Given the description of an element on the screen output the (x, y) to click on. 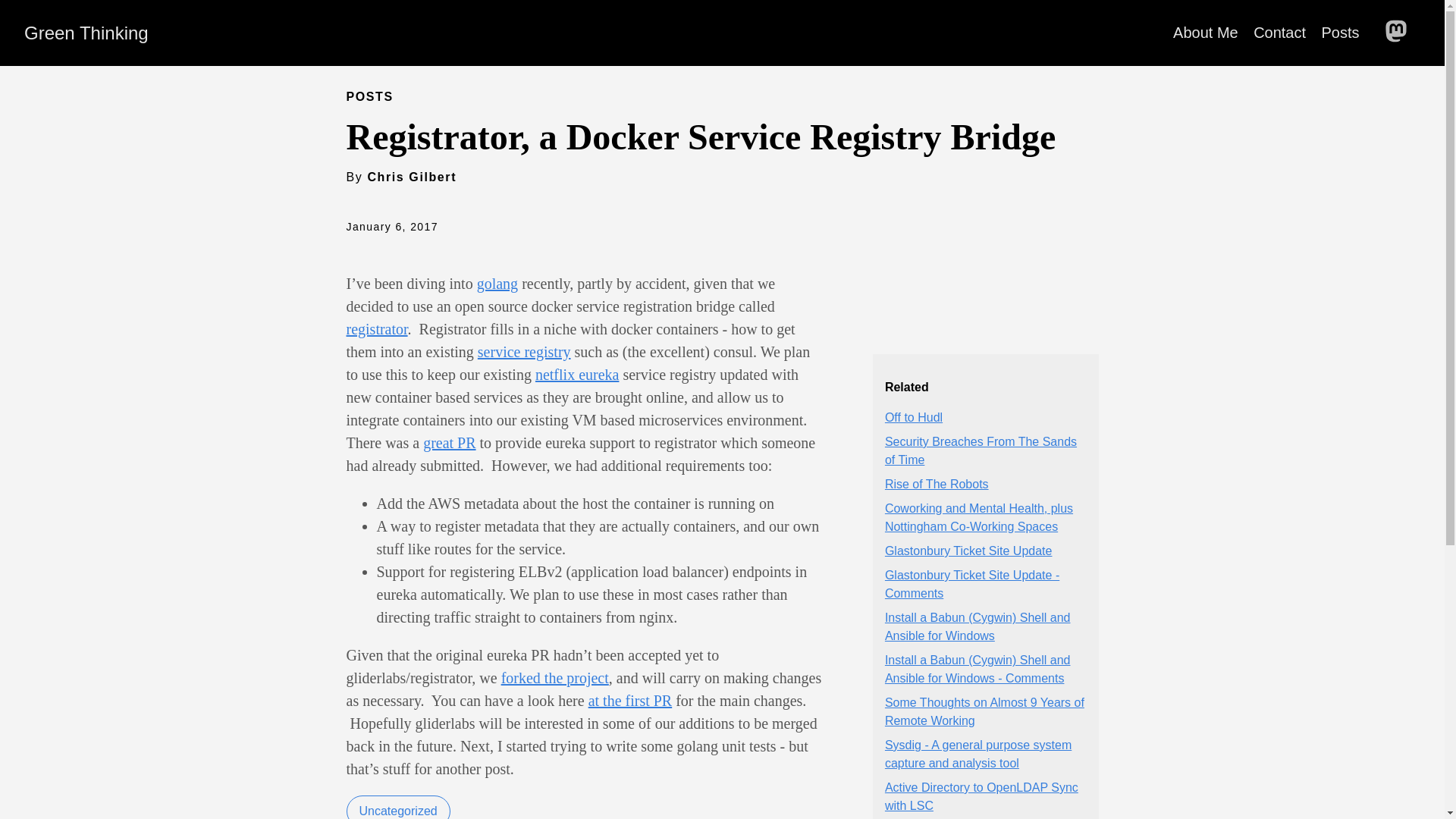
Glastonbury Ticket Site Update - Comments (972, 583)
great PR (449, 442)
golang (497, 283)
About Me page (1206, 32)
Sysdig - A general purpose system capture and analysis tool (978, 753)
Contact page (1279, 32)
Green Thinking (86, 33)
Mastodon link (1400, 31)
Contact (1279, 32)
service registry (523, 351)
